Given the description of an element on the screen output the (x, y) to click on. 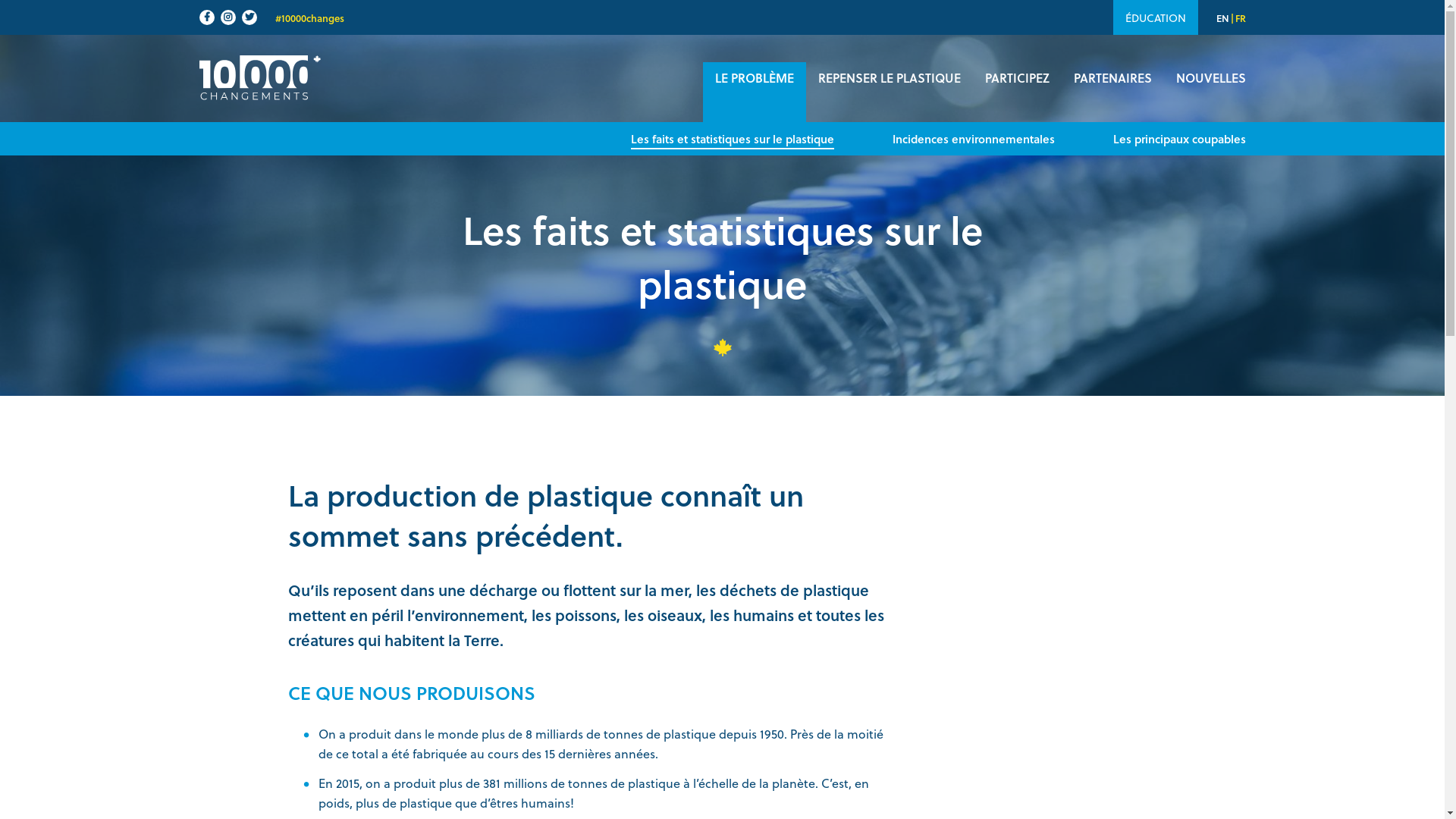
Les principaux coupables Element type: text (1179, 138)
FR Element type: text (1239, 17)
REPENSER LE PLASTIQUE Element type: text (888, 91)
EN Element type: text (1222, 17)
Incidences environnementales Element type: text (973, 138)
PARTICIPEZ Element type: text (1016, 91)
NOUVELLES Element type: text (1210, 91)
Les faits et statistiques sur le plastique Element type: text (732, 138)
PARTENAIRES Element type: text (1112, 91)
